Given the description of an element on the screen output the (x, y) to click on. 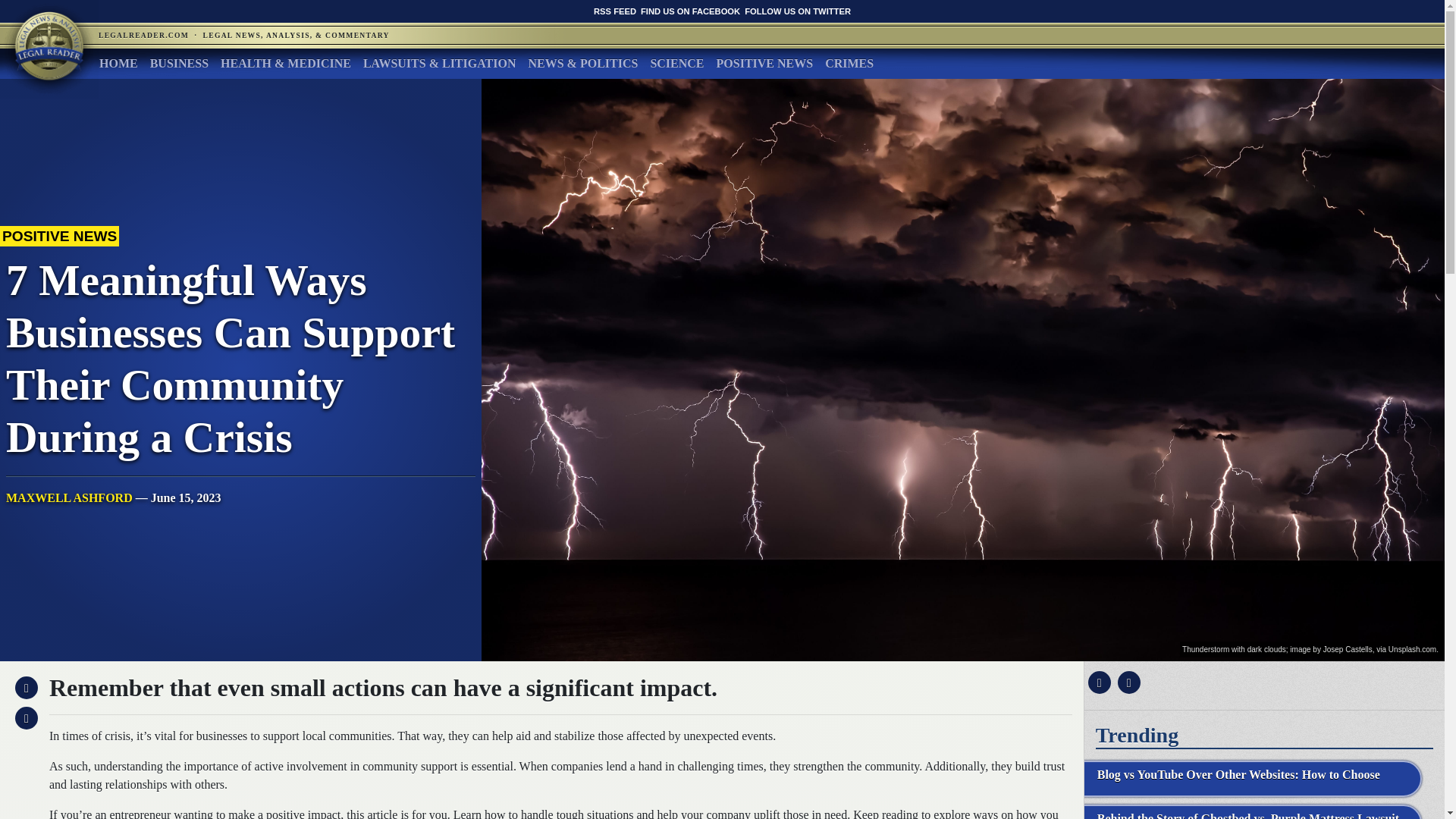
Science (676, 63)
Share on twitter (1126, 682)
MAXWELL ASHFORD (68, 497)
Home (118, 63)
POSITIVE NEWS (764, 63)
CRIMES (848, 63)
Business (179, 63)
SCIENCE (676, 63)
BUSINESS (179, 63)
Crimes (848, 63)
